Given the description of an element on the screen output the (x, y) to click on. 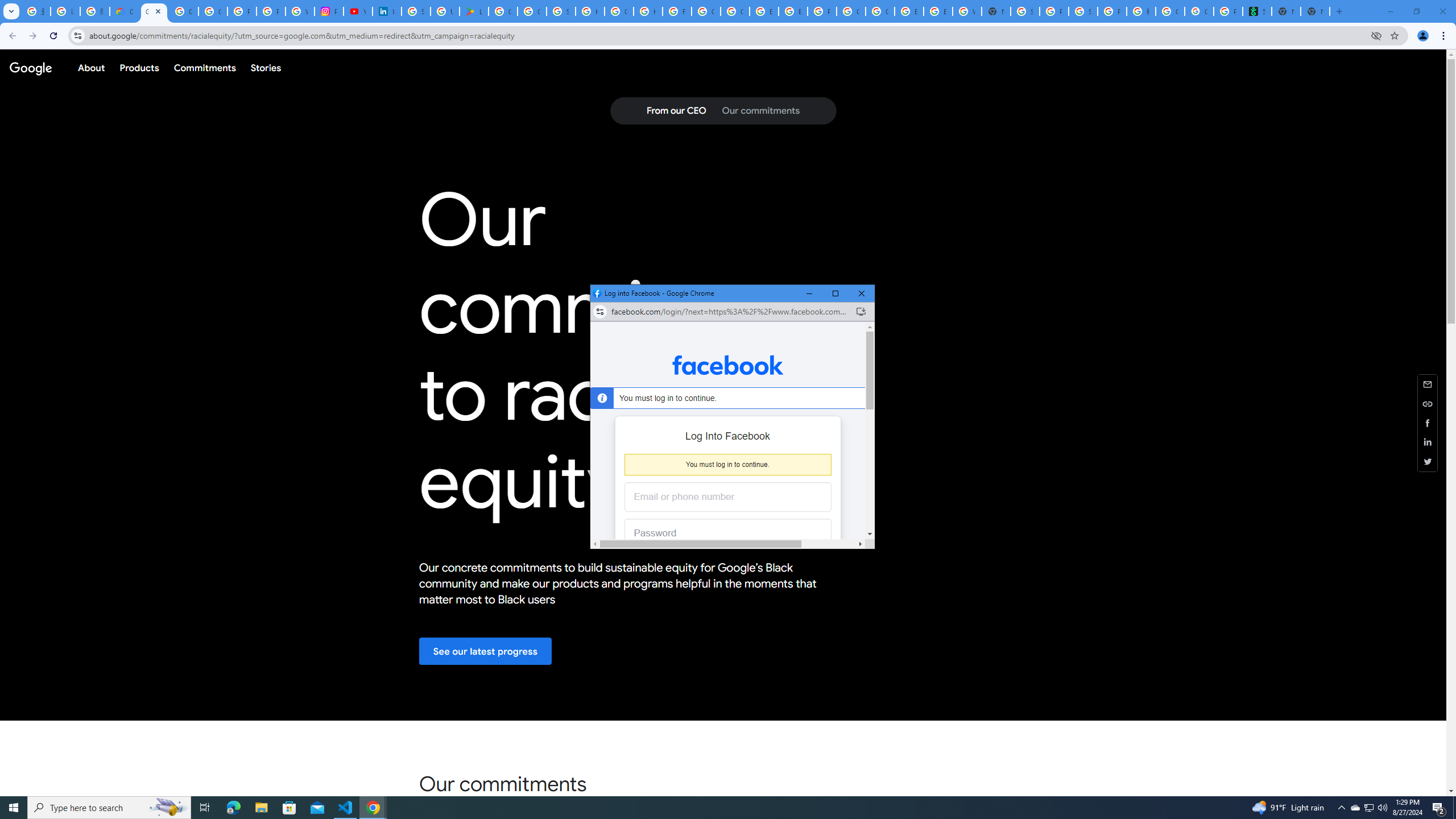
Microsoft Edge (233, 807)
About (90, 67)
Facebook (727, 365)
Share this page (Facebook) (1427, 422)
